Given the description of an element on the screen output the (x, y) to click on. 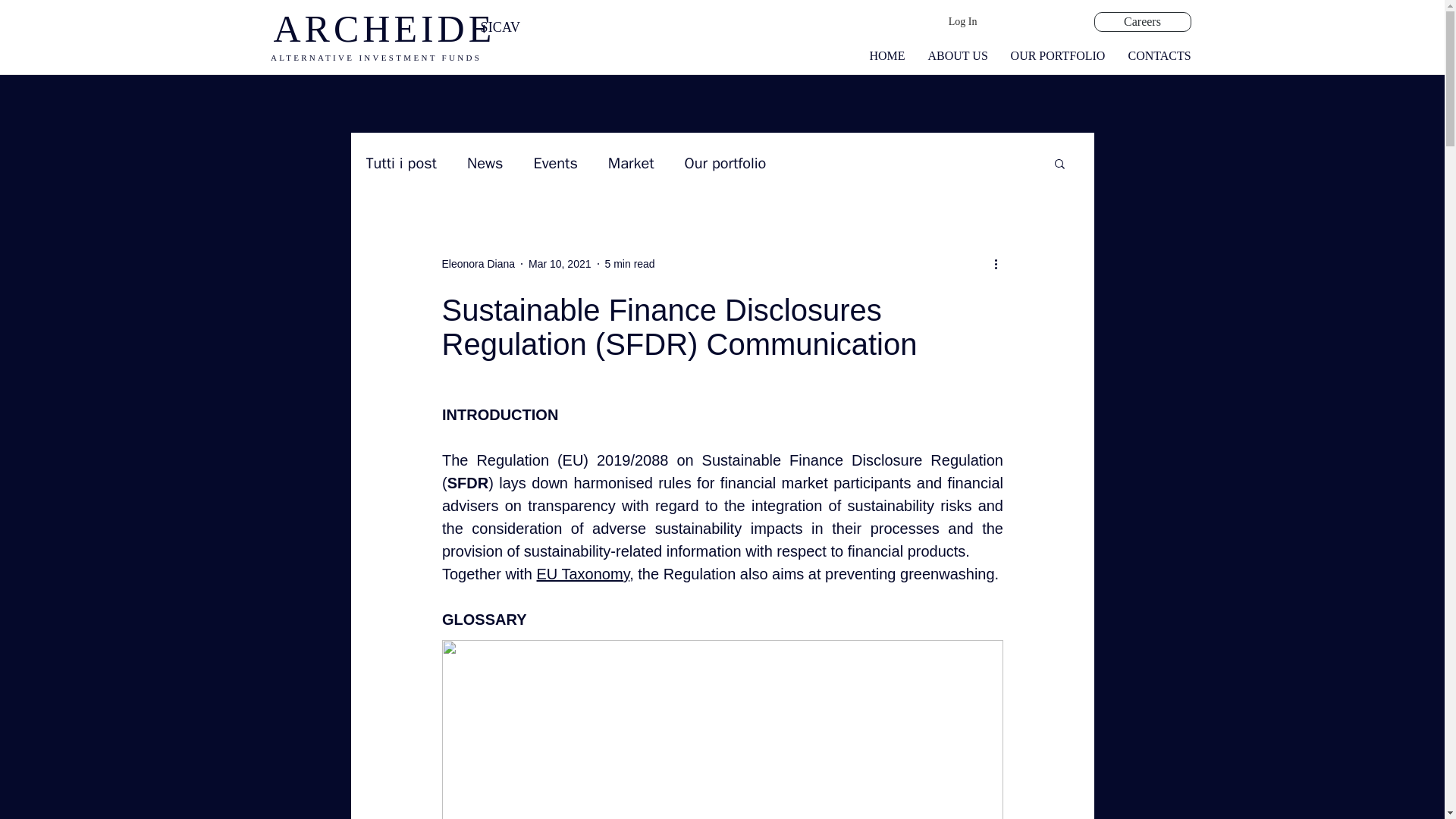
Log In (962, 21)
Our portfolio (725, 163)
Careers (1142, 21)
Market (630, 163)
5 min read (630, 263)
HOME (888, 55)
EU Taxonomy (581, 573)
Eleonora Diana (478, 263)
Tutti i post (400, 163)
ARCHEIDE (384, 28)
Events (556, 163)
News (485, 163)
Mar 10, 2021 (559, 263)
Eleonora Diana (478, 263)
CONTACTS (1159, 55)
